Given the description of an element on the screen output the (x, y) to click on. 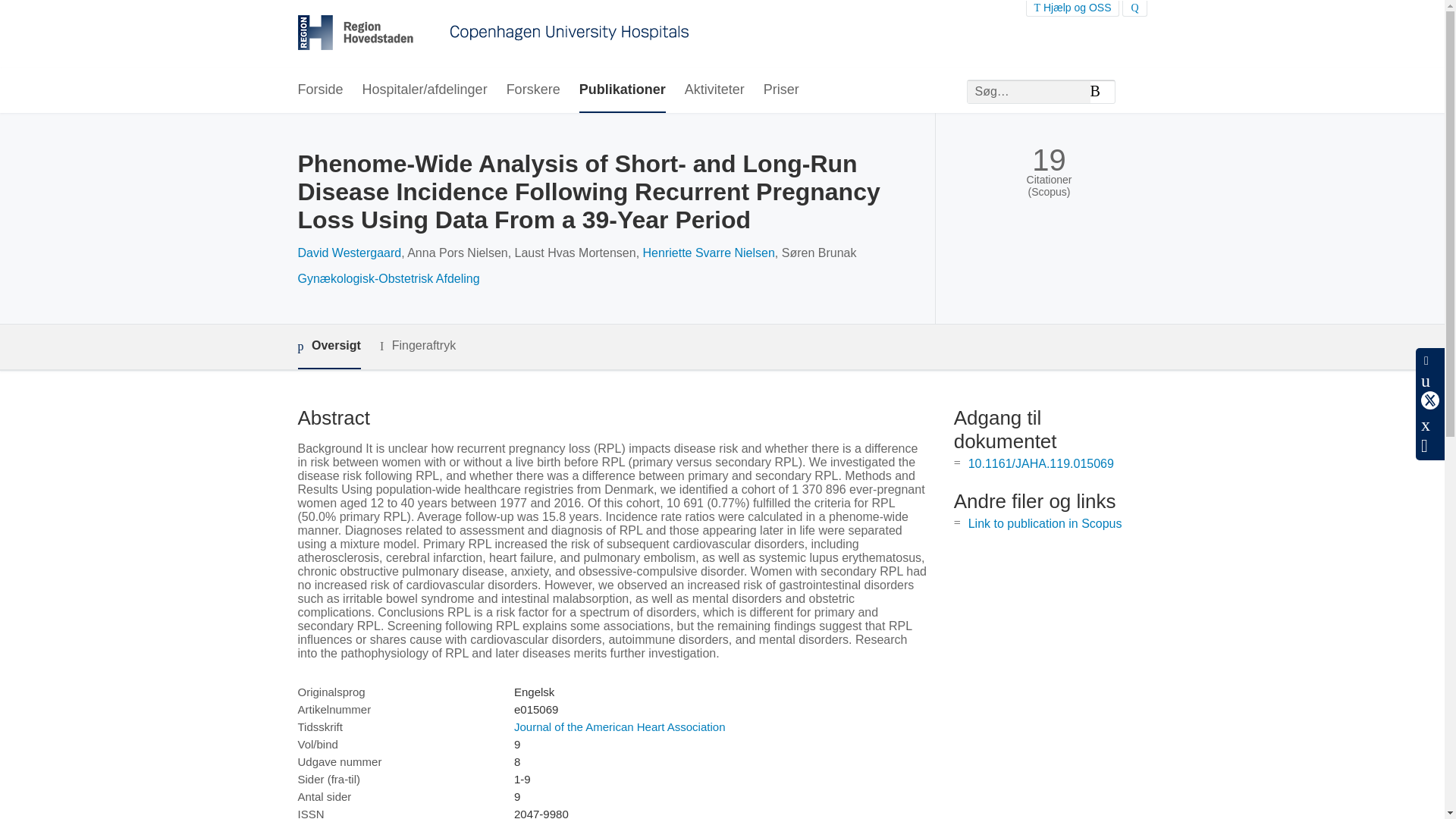
Henriette Svarre Nielsen (708, 252)
Link to publication in Scopus (1045, 522)
Forside (319, 90)
Journal of the American Heart Association (619, 726)
Aktiviteter (714, 90)
Region Hovedstadens forskningsportal Forside (492, 34)
Oversigt (328, 346)
Forskere (533, 90)
Publikationer (622, 90)
Fingeraftryk (417, 345)
David Westergaard (349, 252)
